Given the description of an element on the screen output the (x, y) to click on. 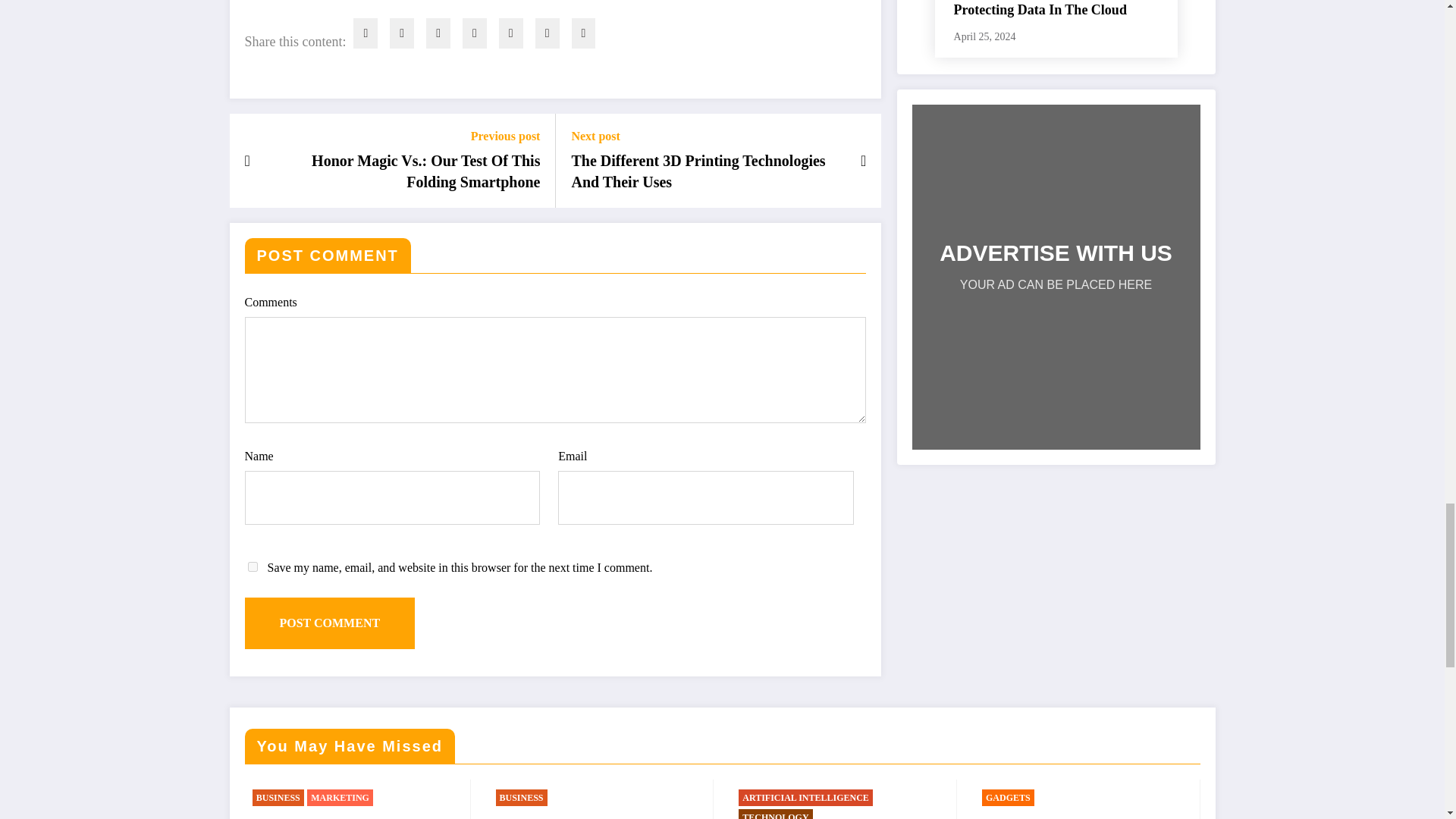
Next post (706, 135)
Previous post (403, 135)
Post Comment (329, 623)
Honor Magic Vs.: Our Test Of This Folding Smartphone (403, 171)
yes (252, 566)
